Given the description of an element on the screen output the (x, y) to click on. 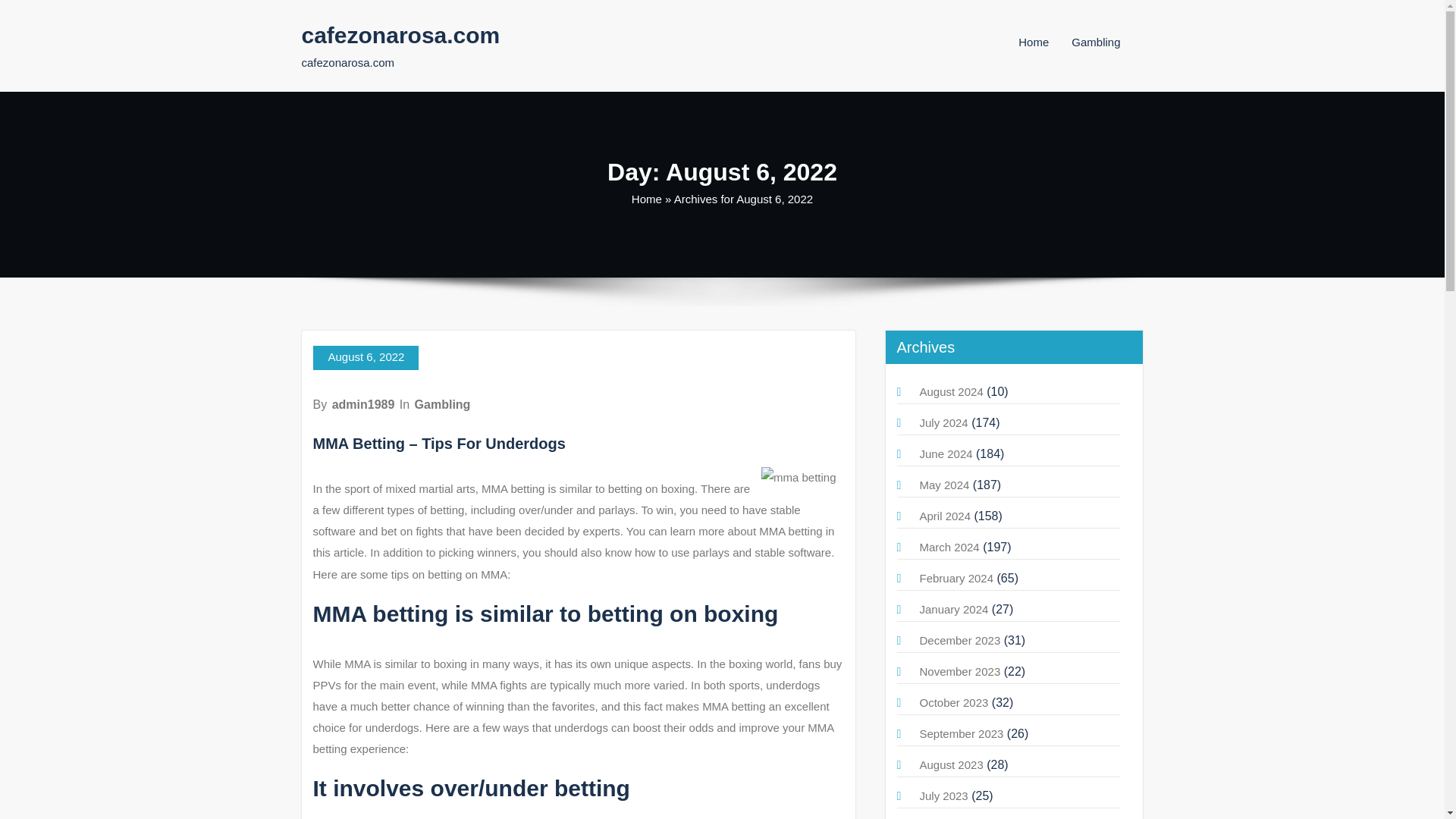
Gambling (442, 404)
Home (646, 198)
Home (1032, 41)
September 2023 (960, 733)
August 2024 (950, 391)
November 2023 (959, 671)
October 2023 (953, 702)
March 2024 (948, 546)
April 2024 (944, 515)
admin1989 (363, 404)
Gambling (1095, 41)
February 2024 (955, 577)
January 2024 (953, 608)
August 2023 (950, 764)
July 2024 (943, 422)
